Given the description of an element on the screen output the (x, y) to click on. 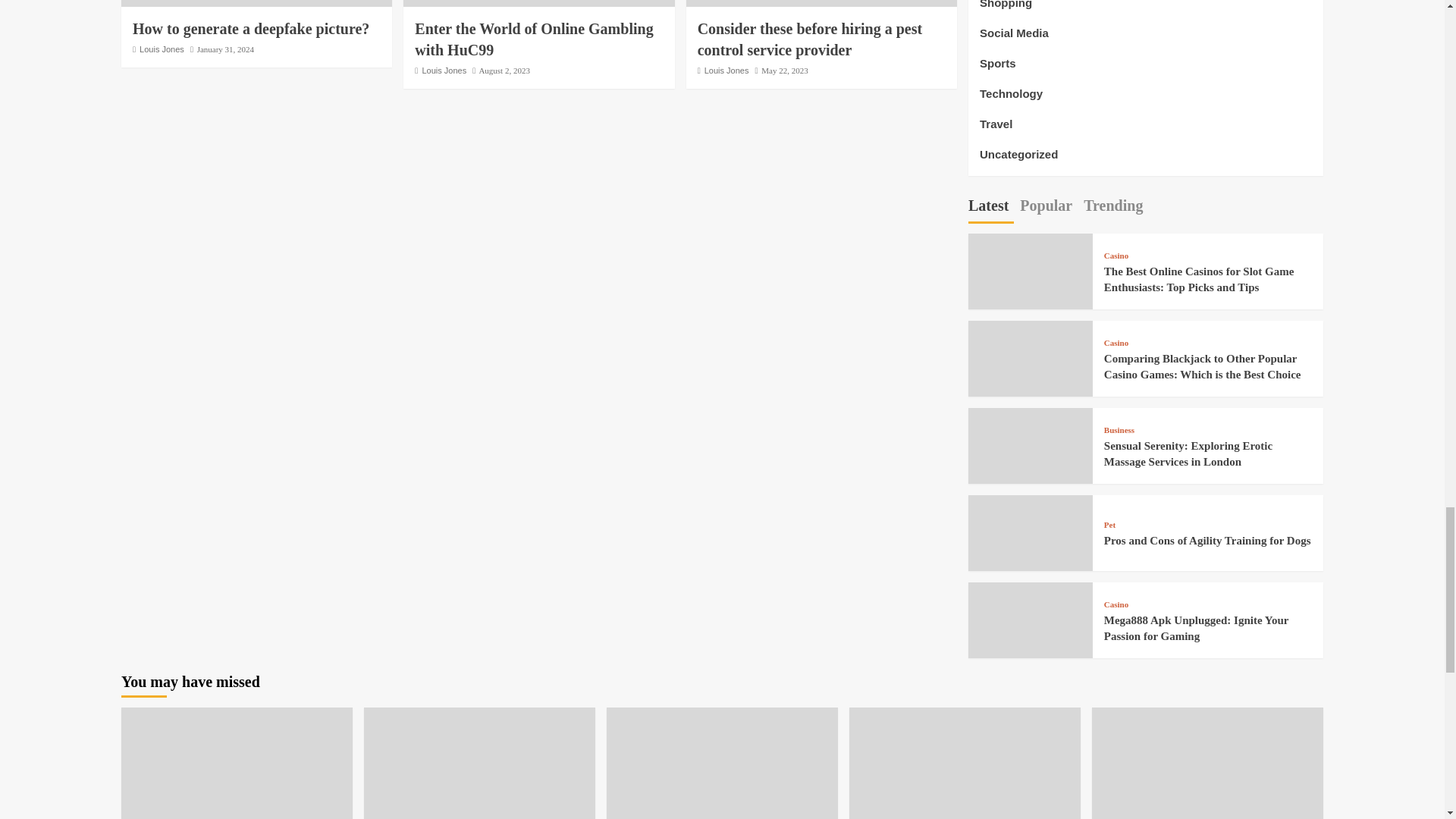
Louis Jones (726, 70)
How to generate a deepfake picture? (250, 28)
Louis Jones (443, 70)
Enter the World of Online Gambling with HuC99  (533, 39)
Consider these before hiring a pest control service provider (809, 39)
January 31, 2024 (224, 49)
May 22, 2023 (784, 70)
Louis Jones (161, 49)
August 2, 2023 (504, 70)
